Given the description of an element on the screen output the (x, y) to click on. 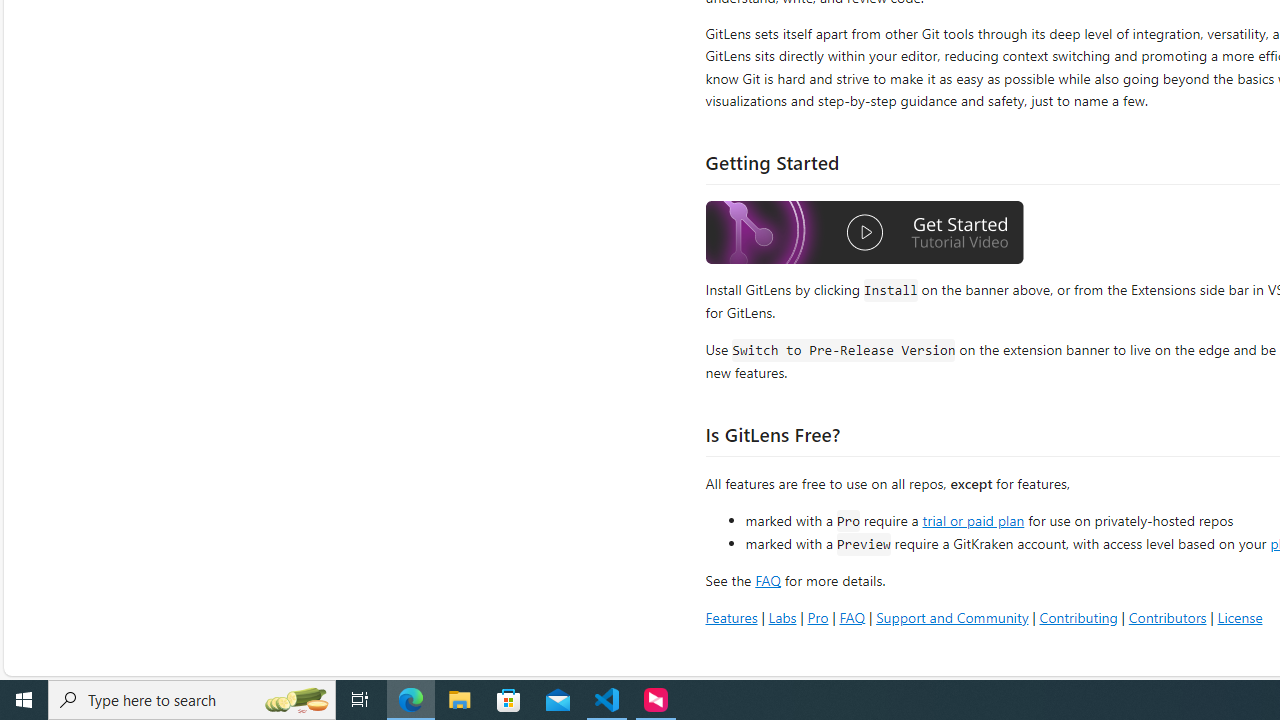
Support and Community (952, 616)
Labs (782, 616)
FAQ (852, 616)
Features (731, 616)
Contributing (1078, 616)
Contributors (1167, 616)
Pro (817, 616)
trial or paid plan (973, 519)
Watch the GitLens Getting Started video (865, 235)
License (1240, 616)
Watch the GitLens Getting Started video (865, 232)
